Given the description of an element on the screen output the (x, y) to click on. 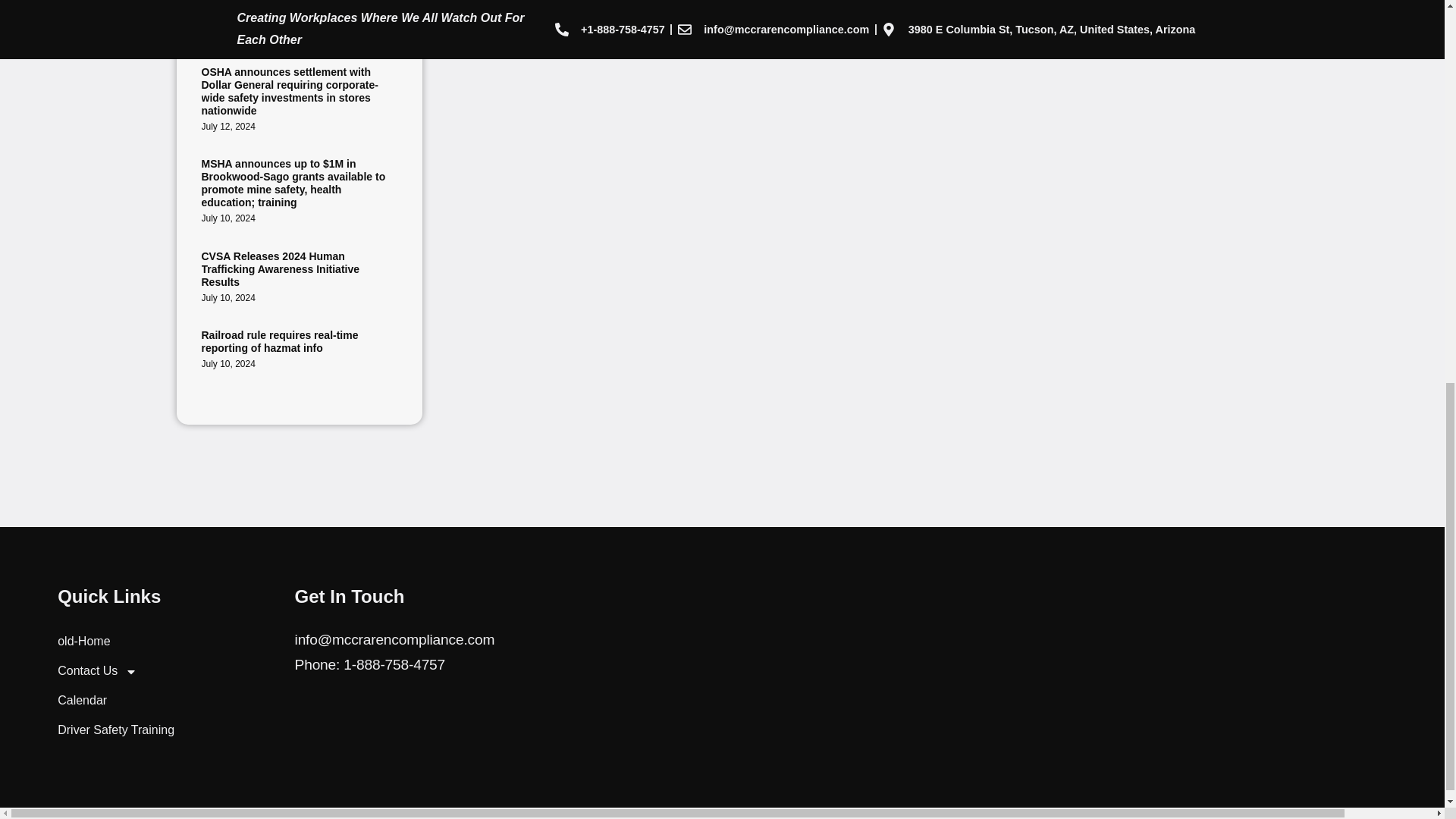
3980 E Columbia St, Tucson, AZ, United States, Arizona (751, 672)
